Given the description of an element on the screen output the (x, y) to click on. 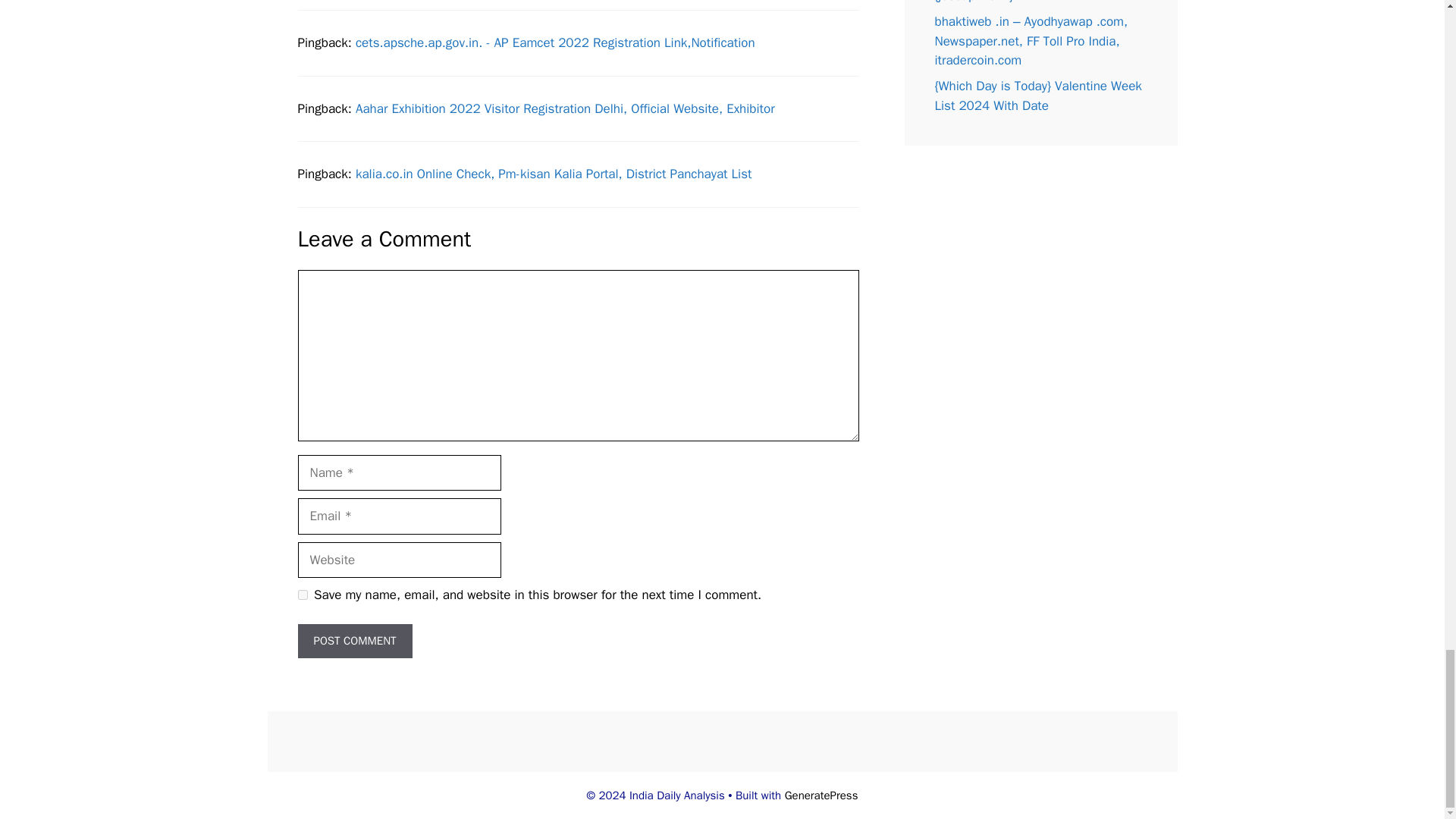
Post Comment (354, 641)
yes (302, 594)
